Given the description of an element on the screen output the (x, y) to click on. 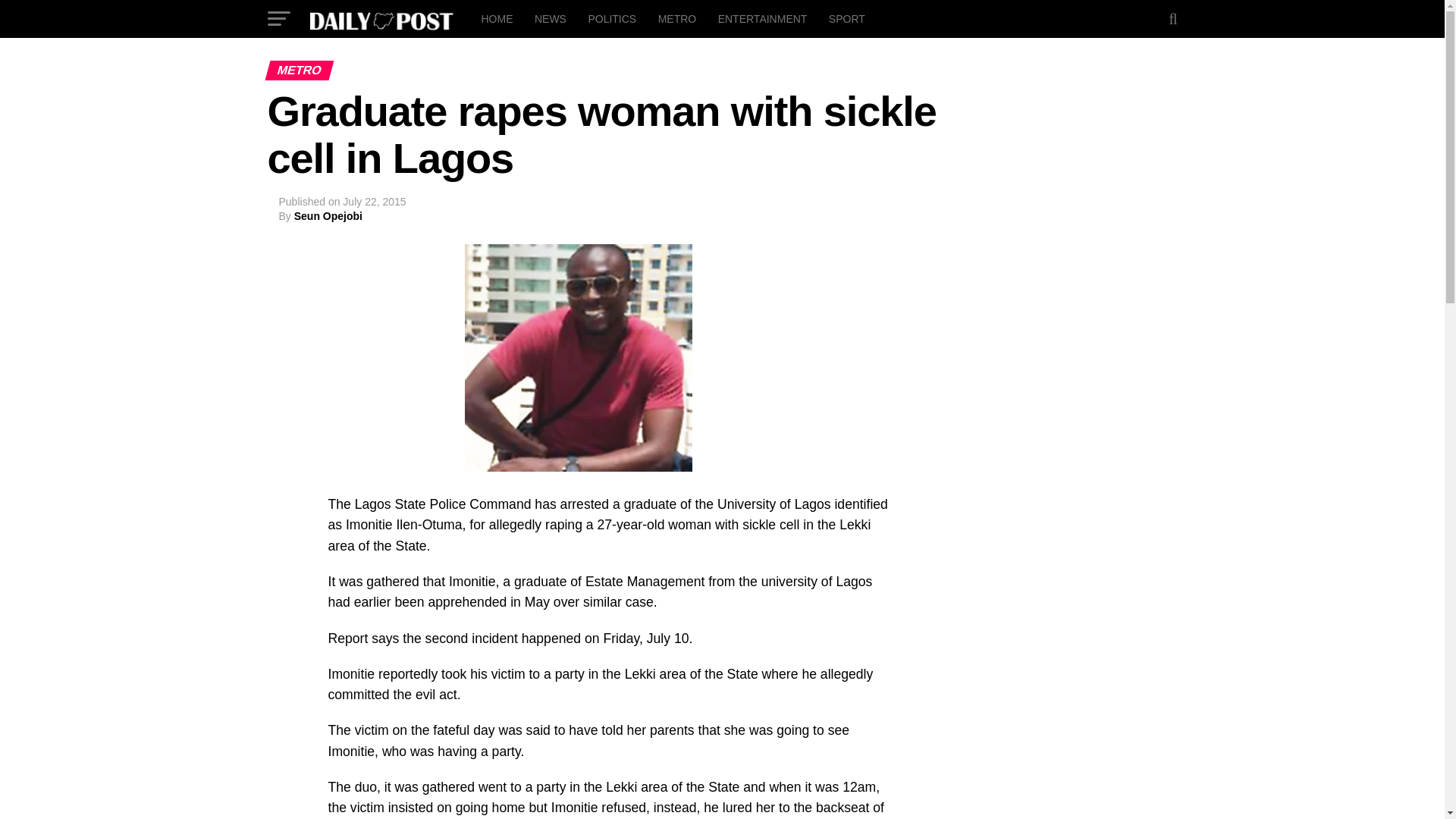
NEWS (550, 18)
Posts by Seun Opejobi (328, 215)
METRO (677, 18)
ENTERTAINMENT (762, 18)
SPORT (847, 18)
HOME (496, 18)
POLITICS (611, 18)
Seun Opejobi (328, 215)
